Given the description of an element on the screen output the (x, y) to click on. 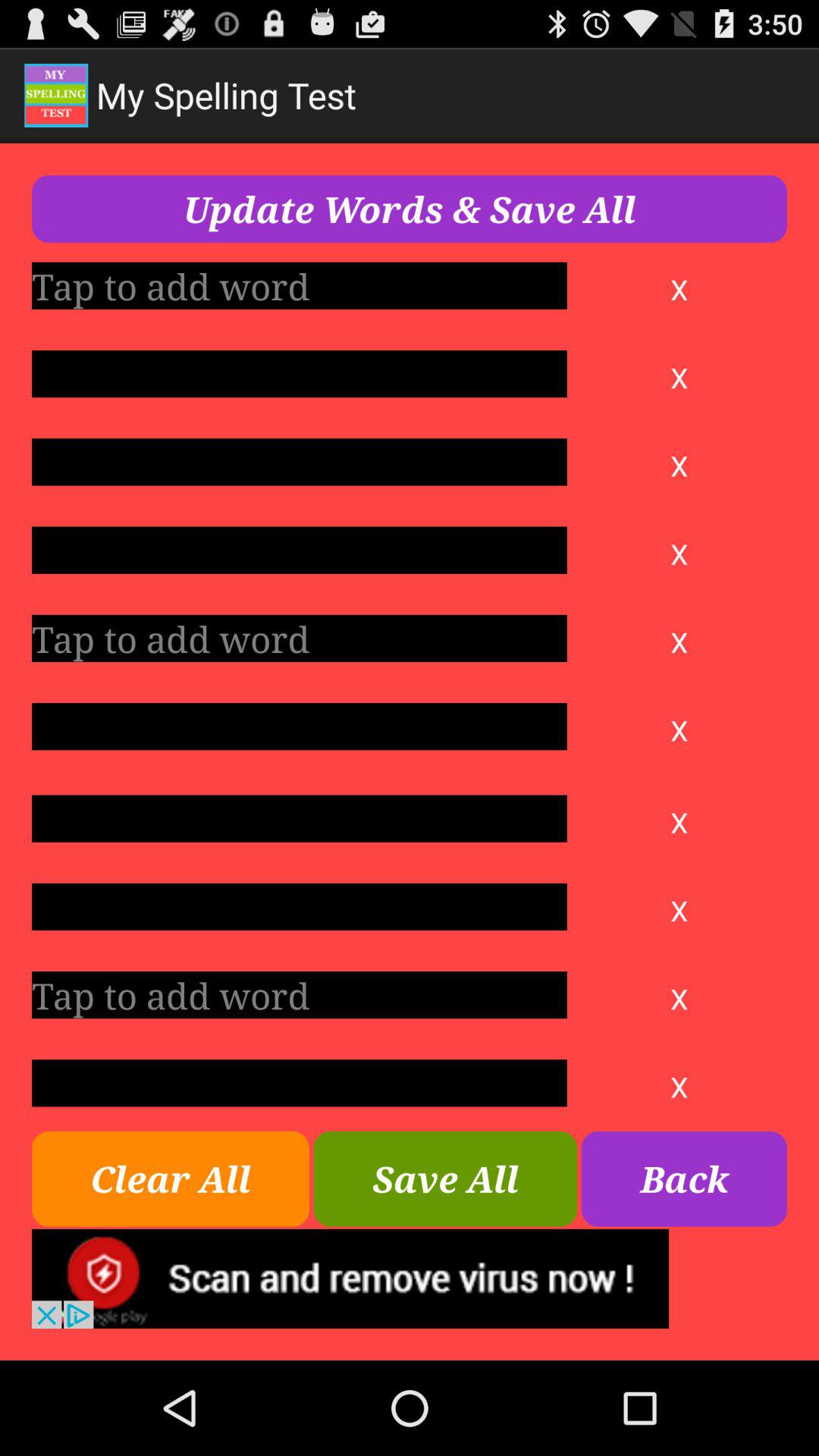
write word (299, 461)
